Given the description of an element on the screen output the (x, y) to click on. 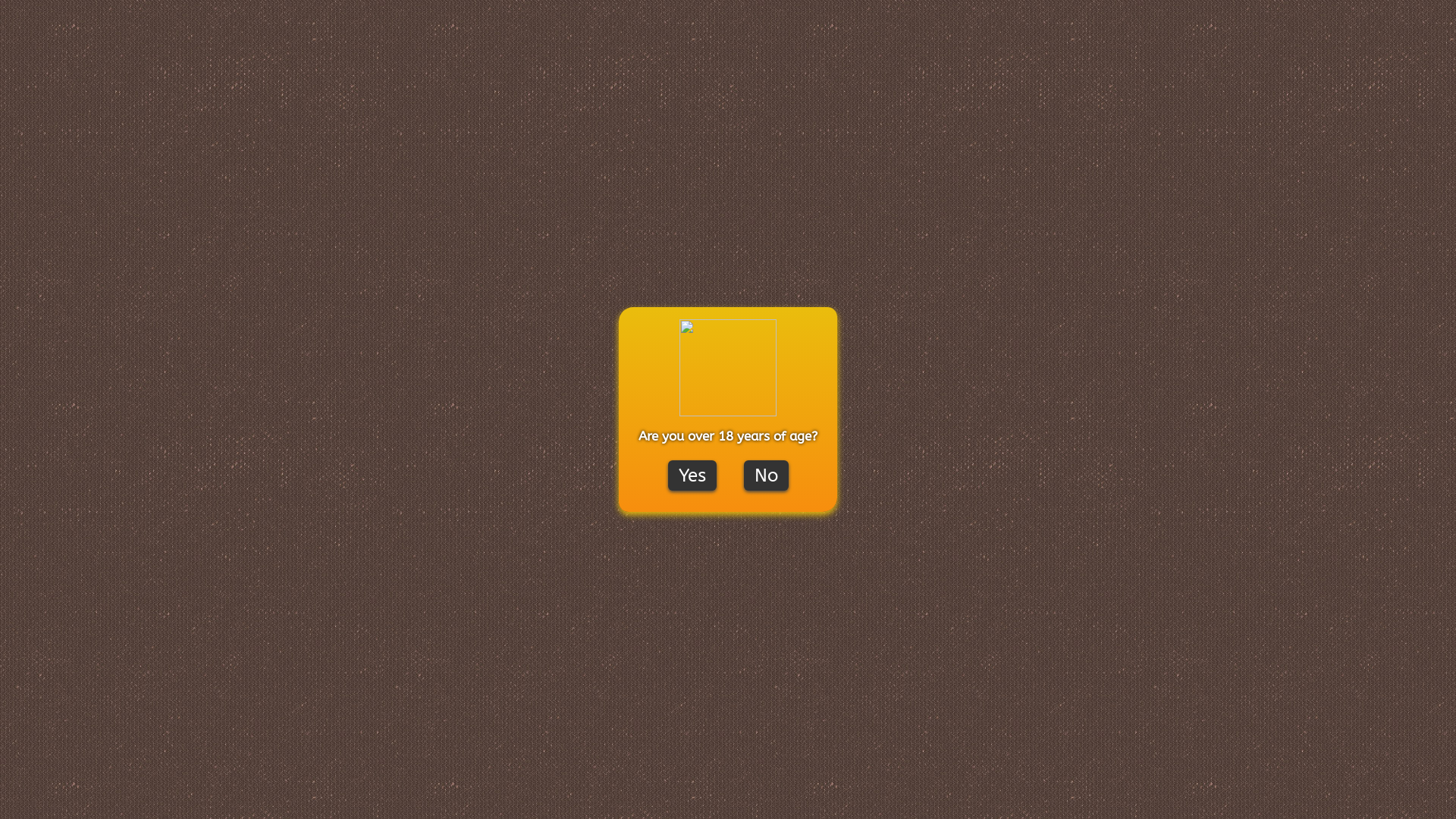
Erotic Element type: text (455, 661)
Search Element type: text (1047, 179)
Click to enlarge Element type: hover (411, 513)
Yes Element type: text (691, 475)
Click to enlarge Element type: hover (510, 513)
Futanari Element type: text (545, 636)
Browse Element type: text (450, 168)
About Element type: text (569, 168)
Yuri Element type: text (659, 636)
Home Element type: text (400, 167)
Click to enlarge Element type: hover (501, 586)
Login Element type: text (1020, 472)
Blog Element type: text (505, 168)
No Element type: text (765, 475)
Home Element type: text (925, 81)
Uncensored Element type: text (608, 636)
Adult Content Element type: hover (849, 456)
Register Element type: text (1433, 9)
Big breasts Element type: text (435, 636)
Aoba Q Madou Element type: text (460, 403)
Fellatio Element type: text (494, 636)
Login Element type: text (1391, 9)
